Given the description of an element on the screen output the (x, y) to click on. 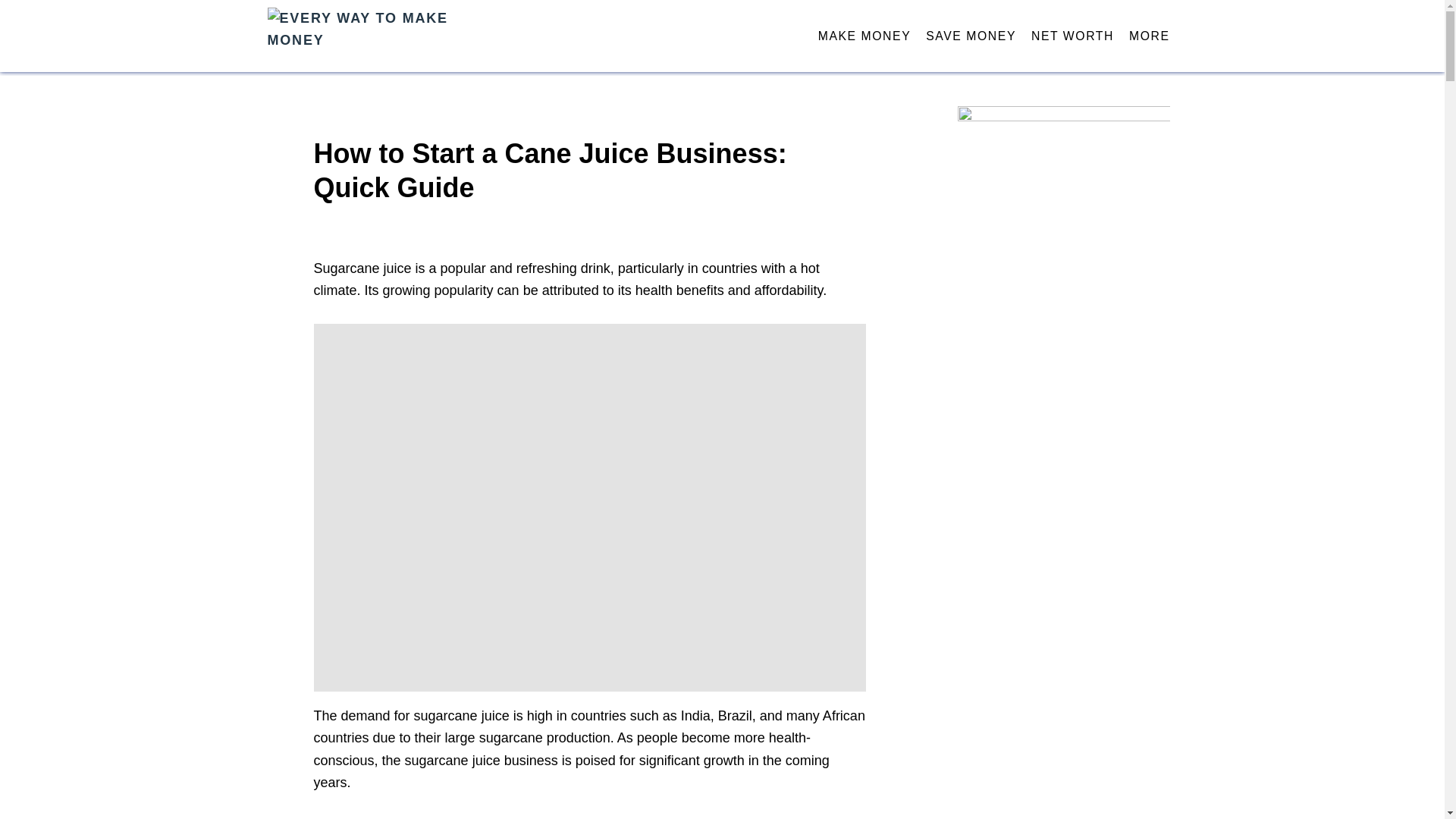
NET WORTH (1072, 36)
SAVE MONEY (970, 36)
MORE (1149, 36)
MAKE MONEY (864, 36)
Every Way To Make Money (403, 36)
